Given the description of an element on the screen output the (x, y) to click on. 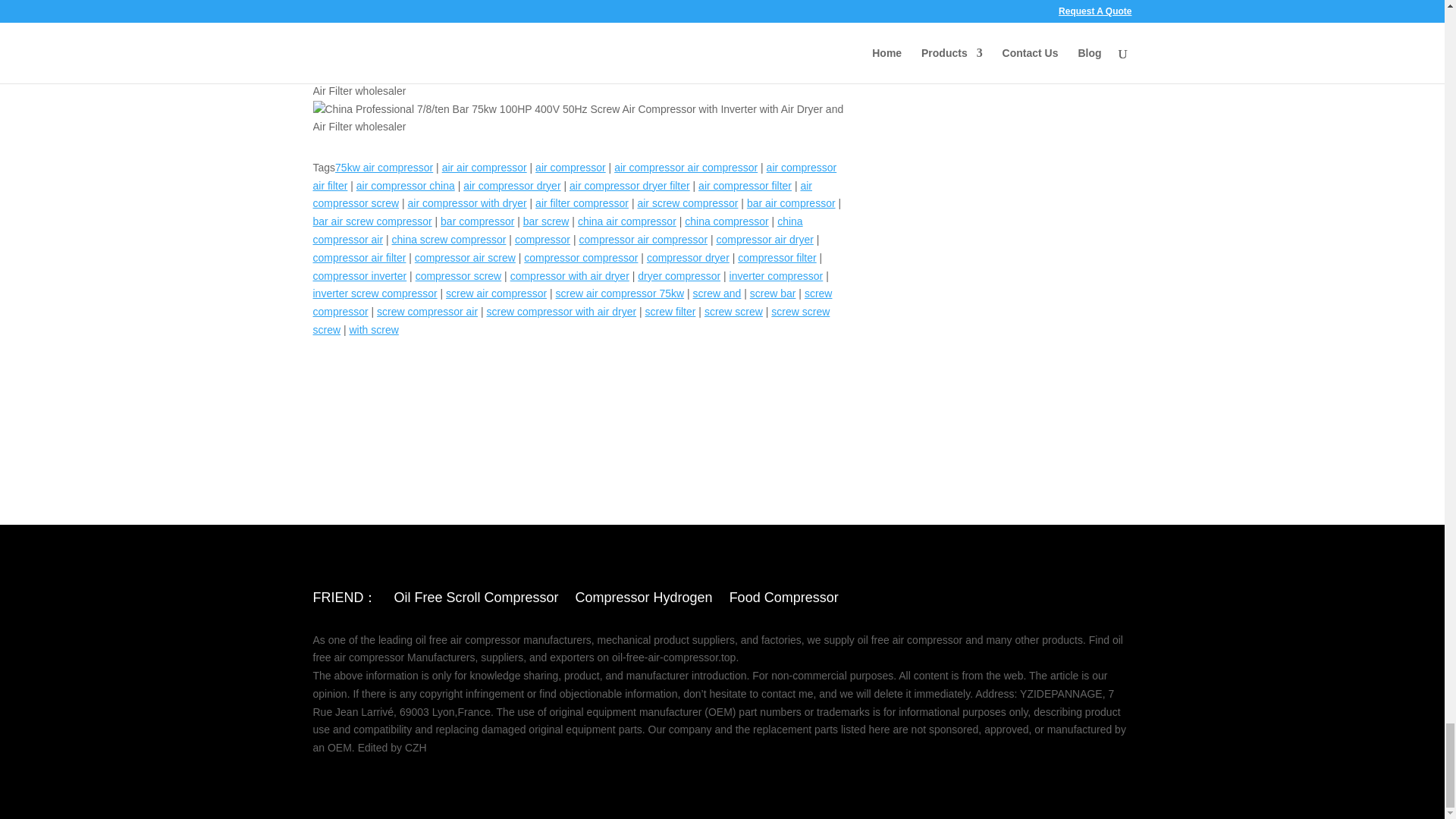
air compressor air filter (574, 176)
air compressor screw (562, 194)
air compressor air compressor (685, 167)
air compressor china (405, 185)
air compressor (570, 167)
china compressor (726, 221)
air compressor dryer (511, 185)
compressor air compressor (642, 239)
compressor air dryer (764, 239)
air compressor with dryer (467, 203)
compressor air filter (359, 257)
air filter compressor (581, 203)
air air compressor (484, 167)
compressor compressor (580, 257)
75kw air compressor (383, 167)
